Given the description of an element on the screen output the (x, y) to click on. 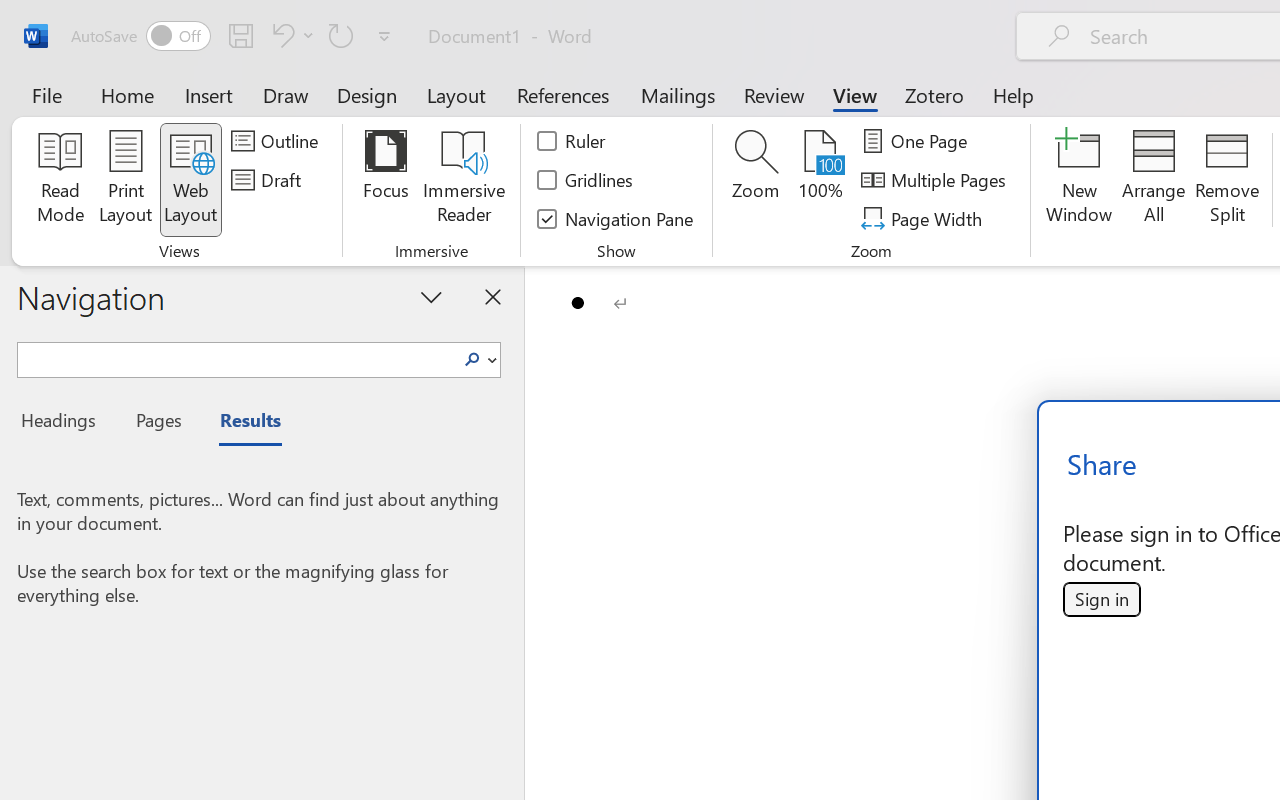
Draft (269, 179)
Remove Split (1227, 179)
